Given the description of an element on the screen output the (x, y) to click on. 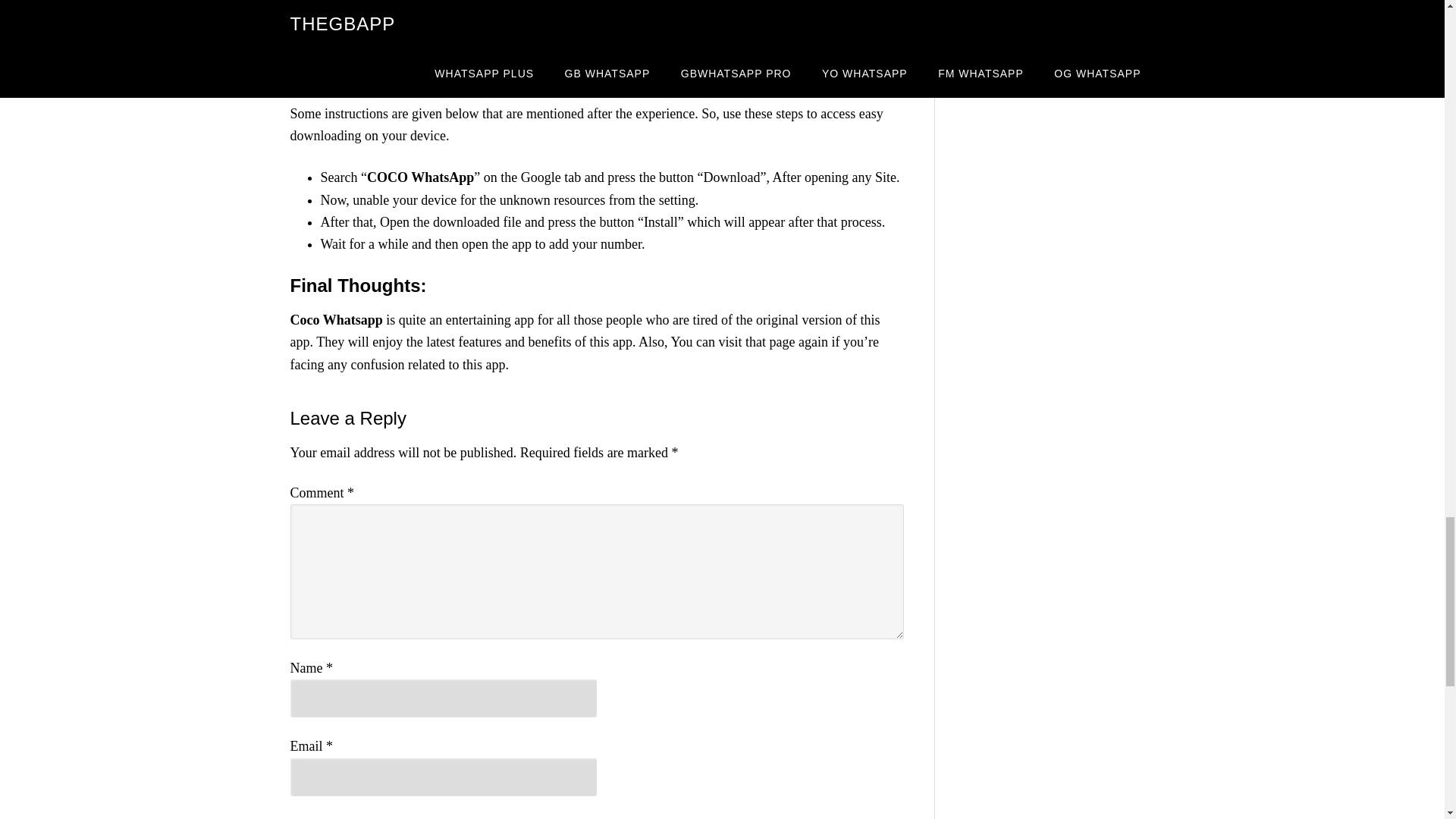
TM Whatsapp (388, 37)
